Given the description of an element on the screen output the (x, y) to click on. 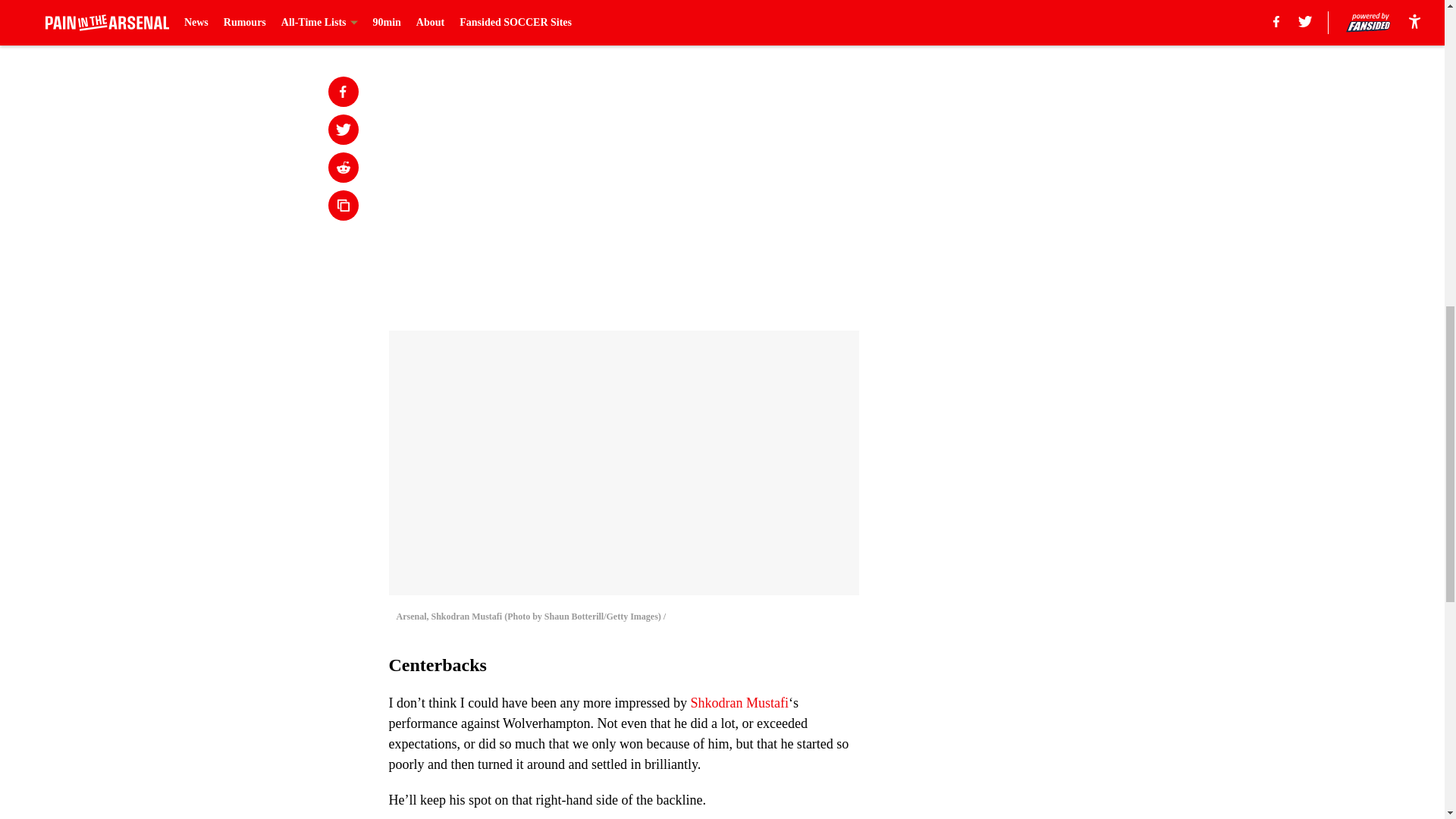
Prev (433, 20)
Next (813, 20)
Shkodran Mustafi (739, 702)
